Given the description of an element on the screen output the (x, y) to click on. 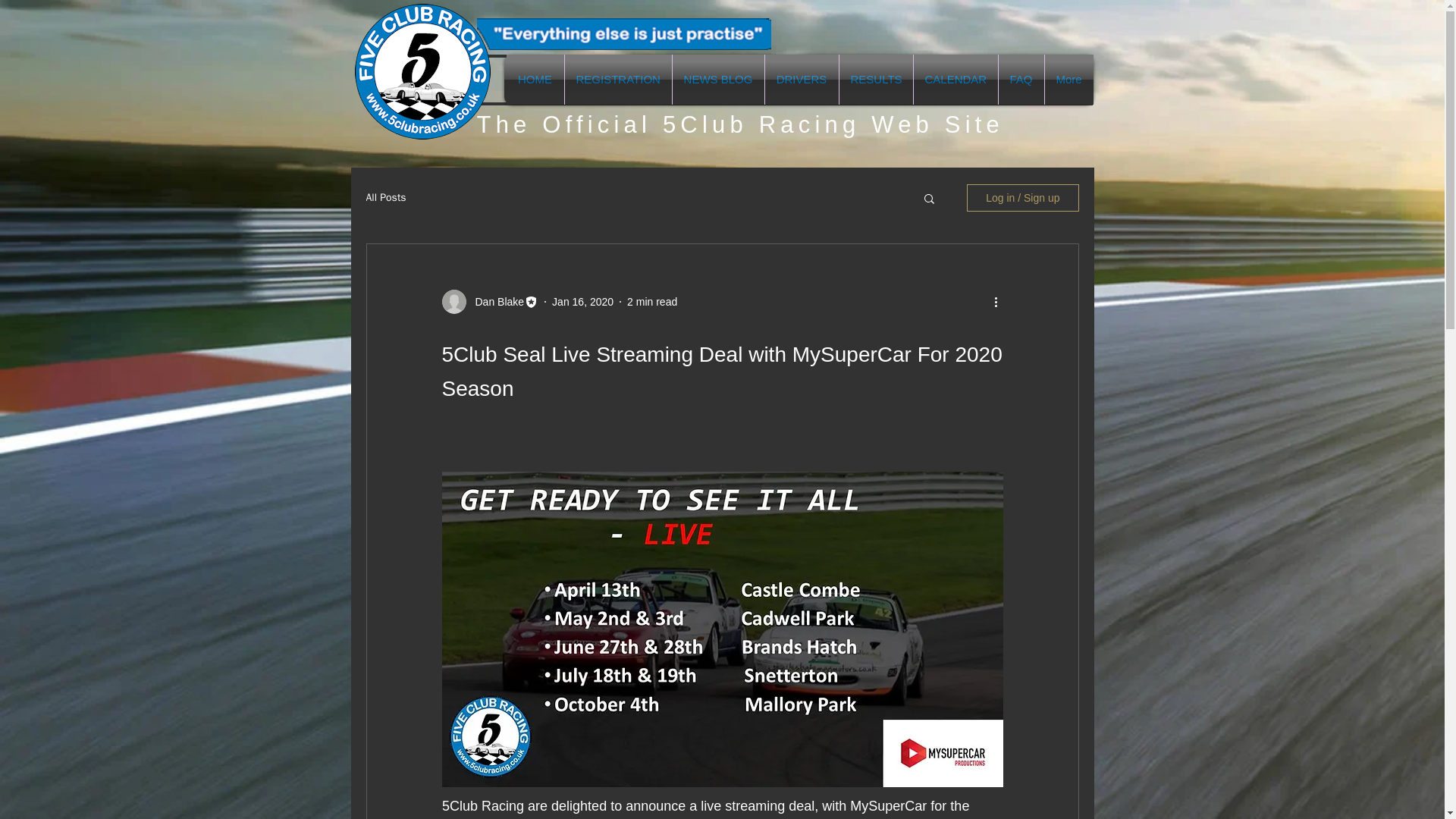
REGISTRATION (617, 79)
RESULTS (875, 79)
All Posts (385, 197)
DRIVERS (801, 79)
Dan Blake (494, 302)
Jan 16, 2020 (581, 301)
NEWS BLOG (716, 79)
2 min read (652, 301)
HOME (535, 79)
FAQ (1020, 79)
CALENDAR (954, 79)
